Given the description of an element on the screen output the (x, y) to click on. 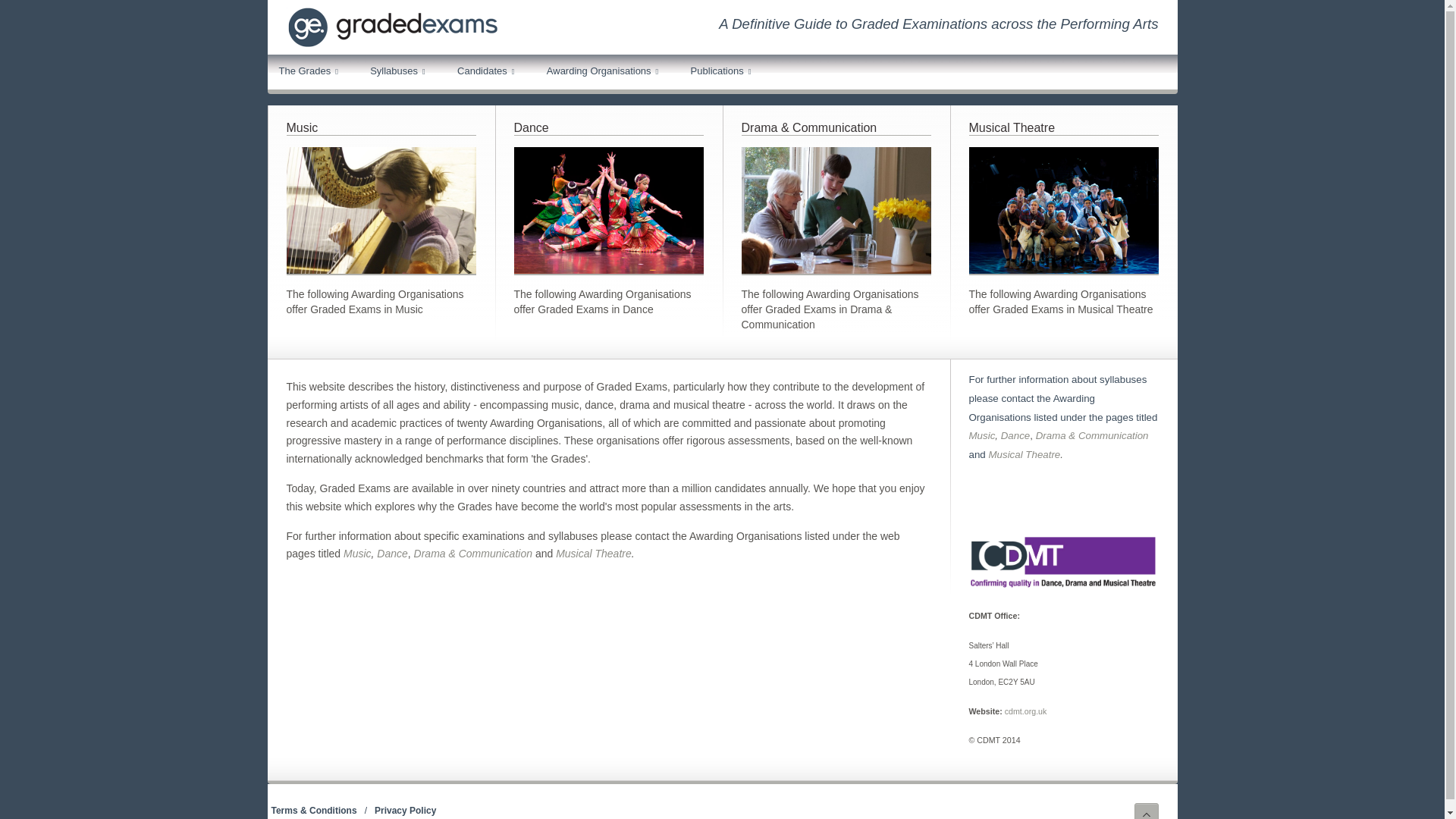
Dance (392, 553)
Privacy Policy (409, 810)
Musical Theatre (593, 553)
Dance (1015, 435)
cdmt.org.uk (1025, 710)
Music (302, 127)
Awarding Organisations (605, 71)
CDET (1063, 587)
Dance (530, 127)
Candidates (488, 71)
Music (357, 553)
Musical Theatre (1012, 127)
Music (982, 435)
The Grades (311, 71)
Syllabuses (399, 71)
